Given the description of an element on the screen output the (x, y) to click on. 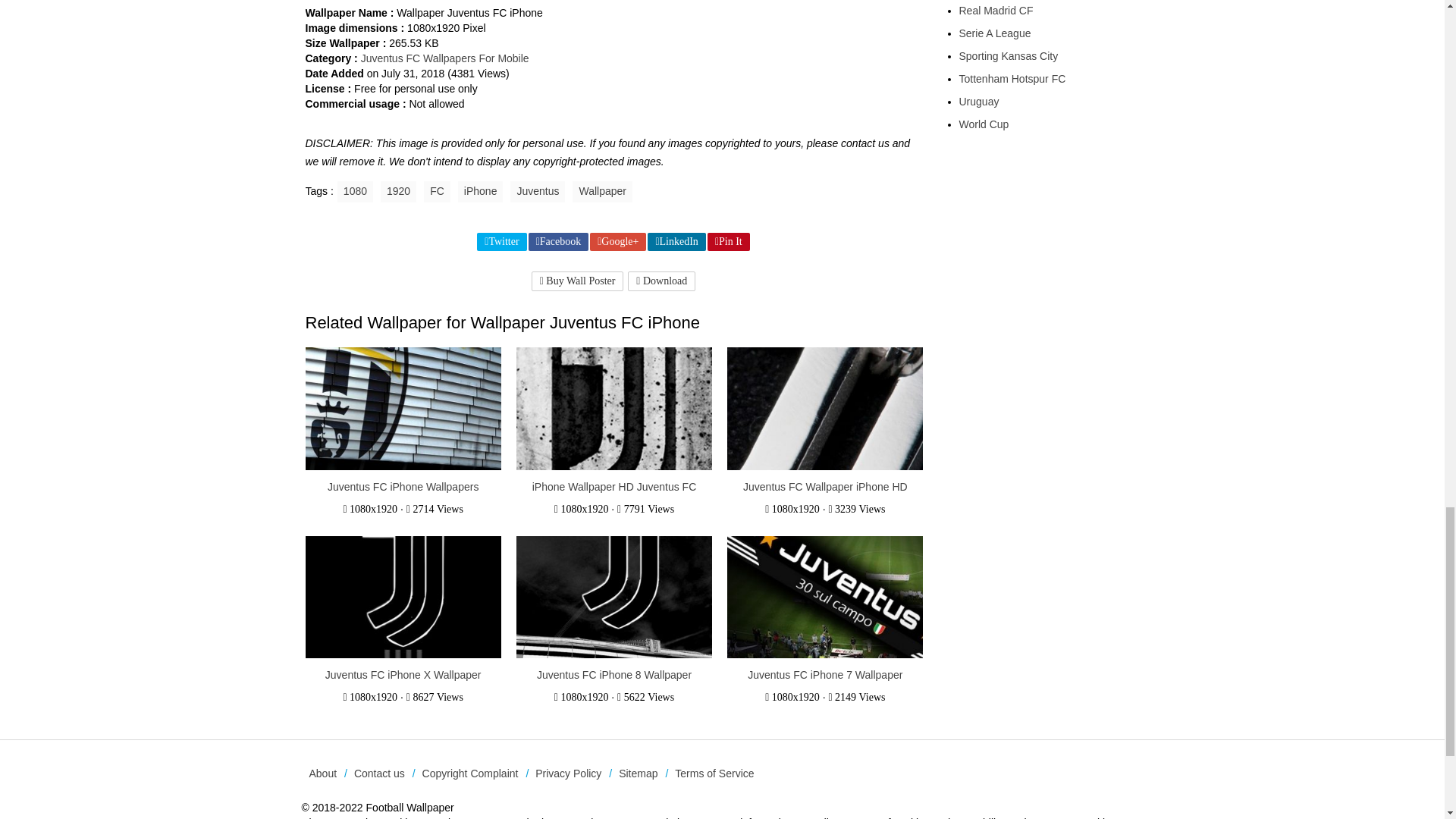
Juventus FC Wallpaper iPhone HD (824, 409)
1920 (398, 191)
Juventus (537, 191)
iPhone (480, 191)
Juventus FC iPhone 7 Wallpaper (824, 598)
Juventus FC iPhone 8 Wallpaper (614, 674)
Juventus FC iPhone X Wallpaper (402, 674)
Juventus FC iPhone X Wallpaper (402, 598)
Juventus FC iPhone Wallpapers (402, 409)
Juventus FC iPhone X Wallpaper (402, 674)
Wallpaper (601, 191)
Juventus FC iPhone Wallpapers (403, 486)
Juventus FC iPhone 7 Wallpaper (825, 674)
iPhone Wallpaper HD Juventus FC (614, 486)
Juventus FC iPhone 8 Wallpaper (613, 598)
